Given the description of an element on the screen output the (x, y) to click on. 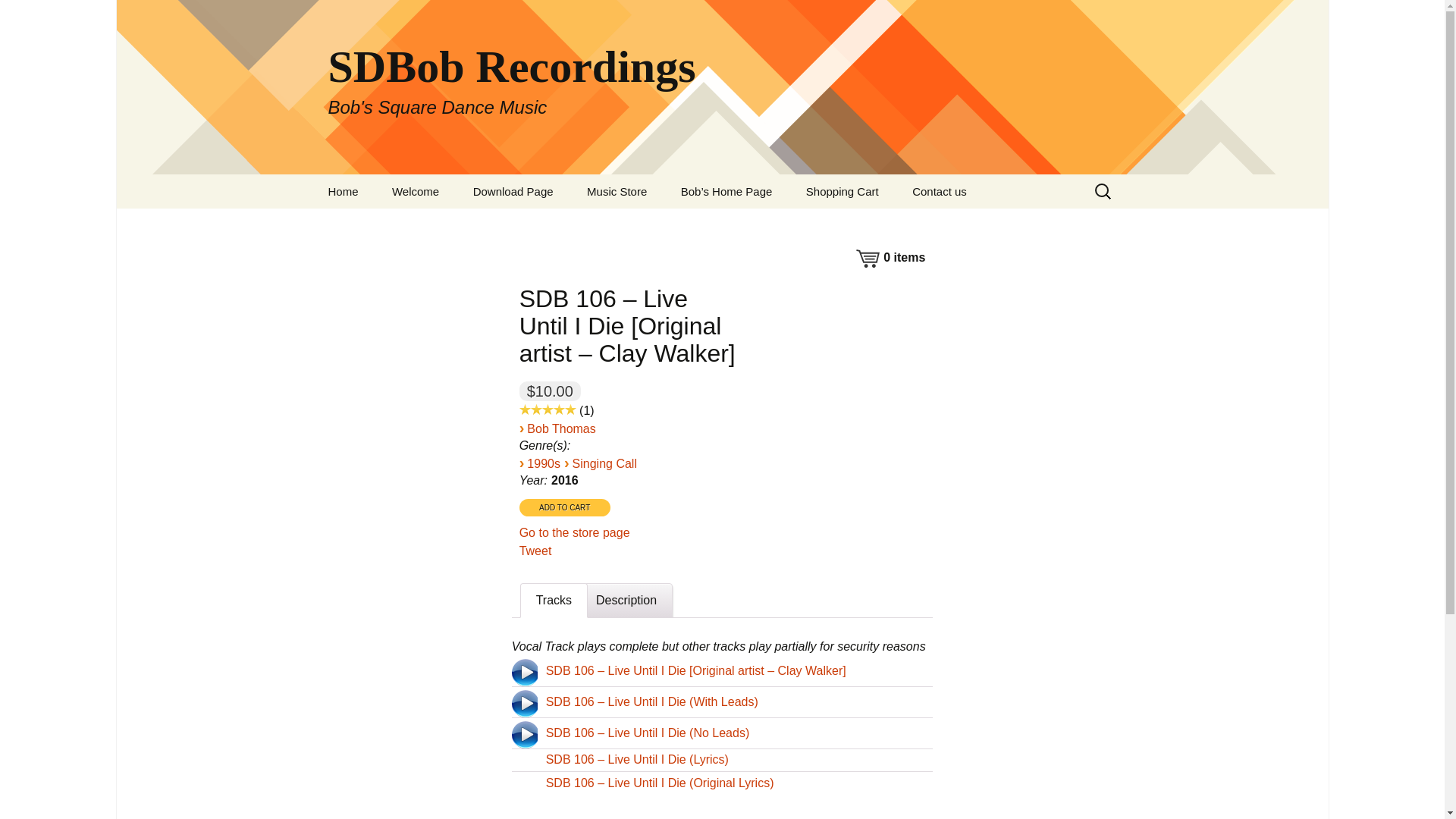
Play (524, 672)
Tweet (535, 550)
Welcome (415, 191)
Home (342, 191)
Shopping Cart (841, 191)
Singing Call (604, 463)
Play (524, 703)
Search (34, 15)
Download Page (513, 191)
Add to Cart (564, 507)
